Given the description of an element on the screen output the (x, y) to click on. 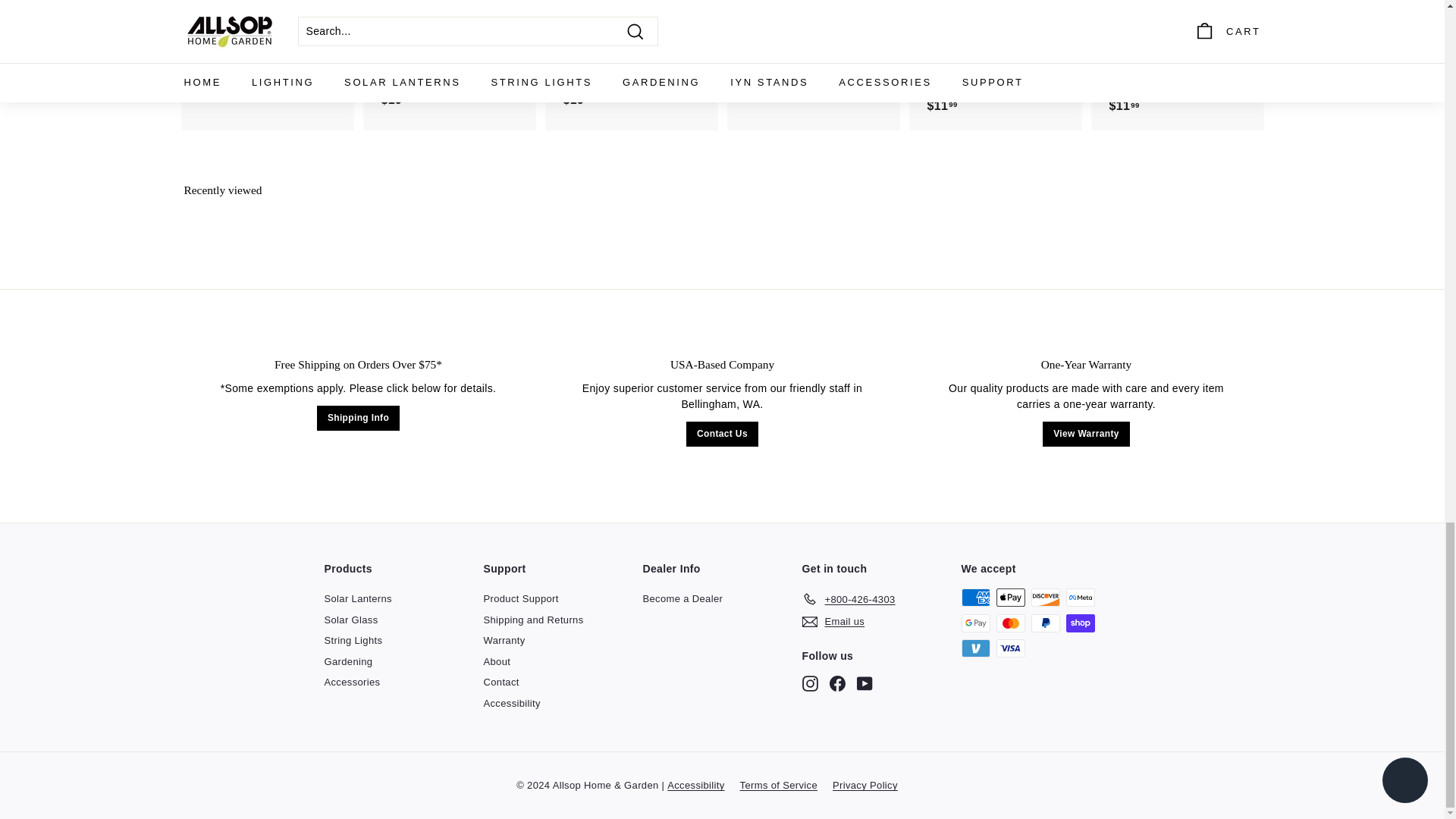
Meta Pay (1079, 597)
Visa (1010, 648)
Discover (1044, 597)
Google Pay (975, 623)
Venmo (975, 648)
Apple Pay (1010, 597)
Mastercard (1010, 623)
PayPal (1044, 623)
American Express (975, 597)
Shop Pay (1079, 623)
